Given the description of an element on the screen output the (x, y) to click on. 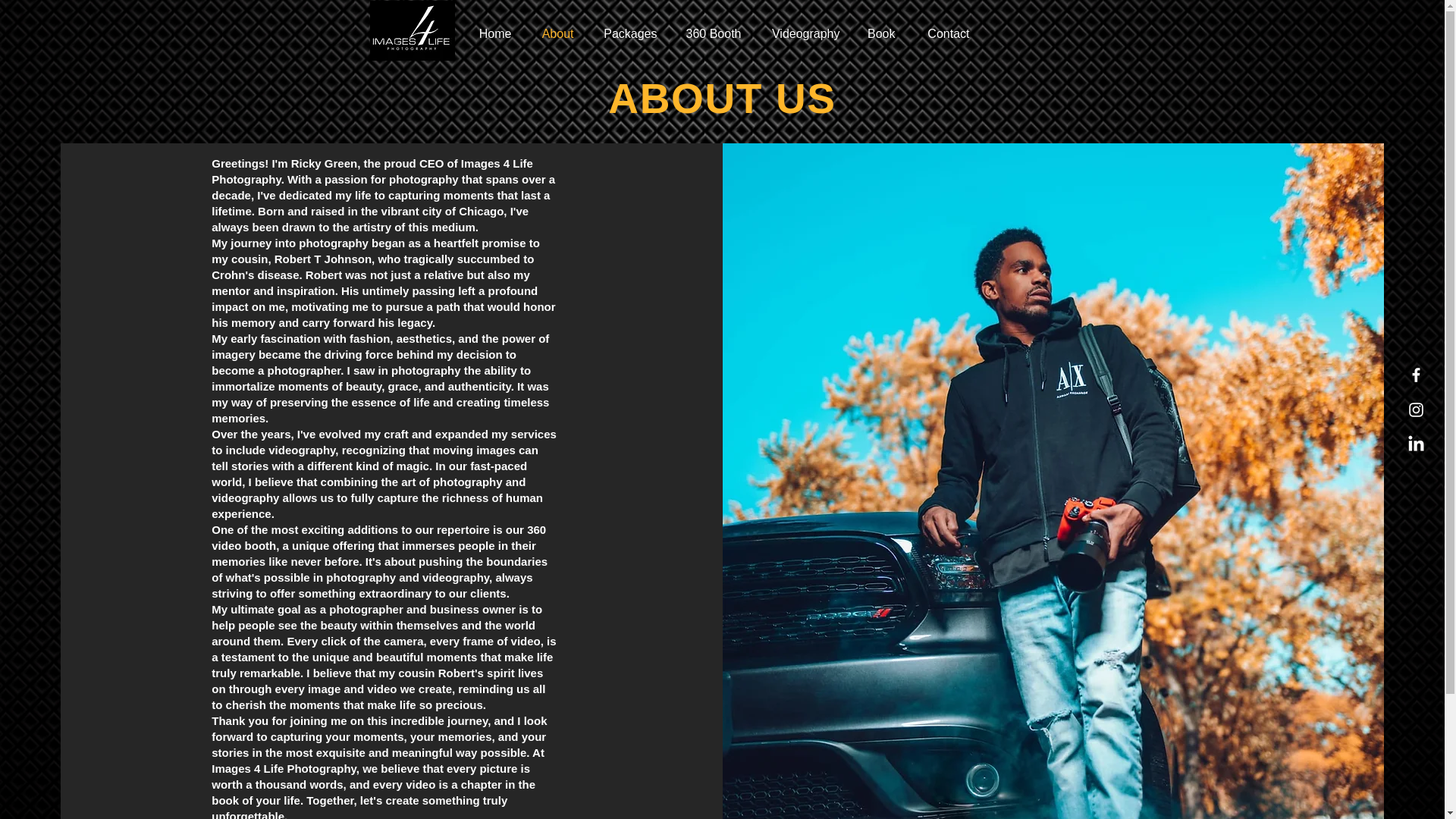
360 Booth (710, 34)
Home (493, 34)
Contact (944, 34)
About (553, 34)
Book (877, 34)
Packages (626, 34)
Videography (801, 34)
